Given the description of an element on the screen output the (x, y) to click on. 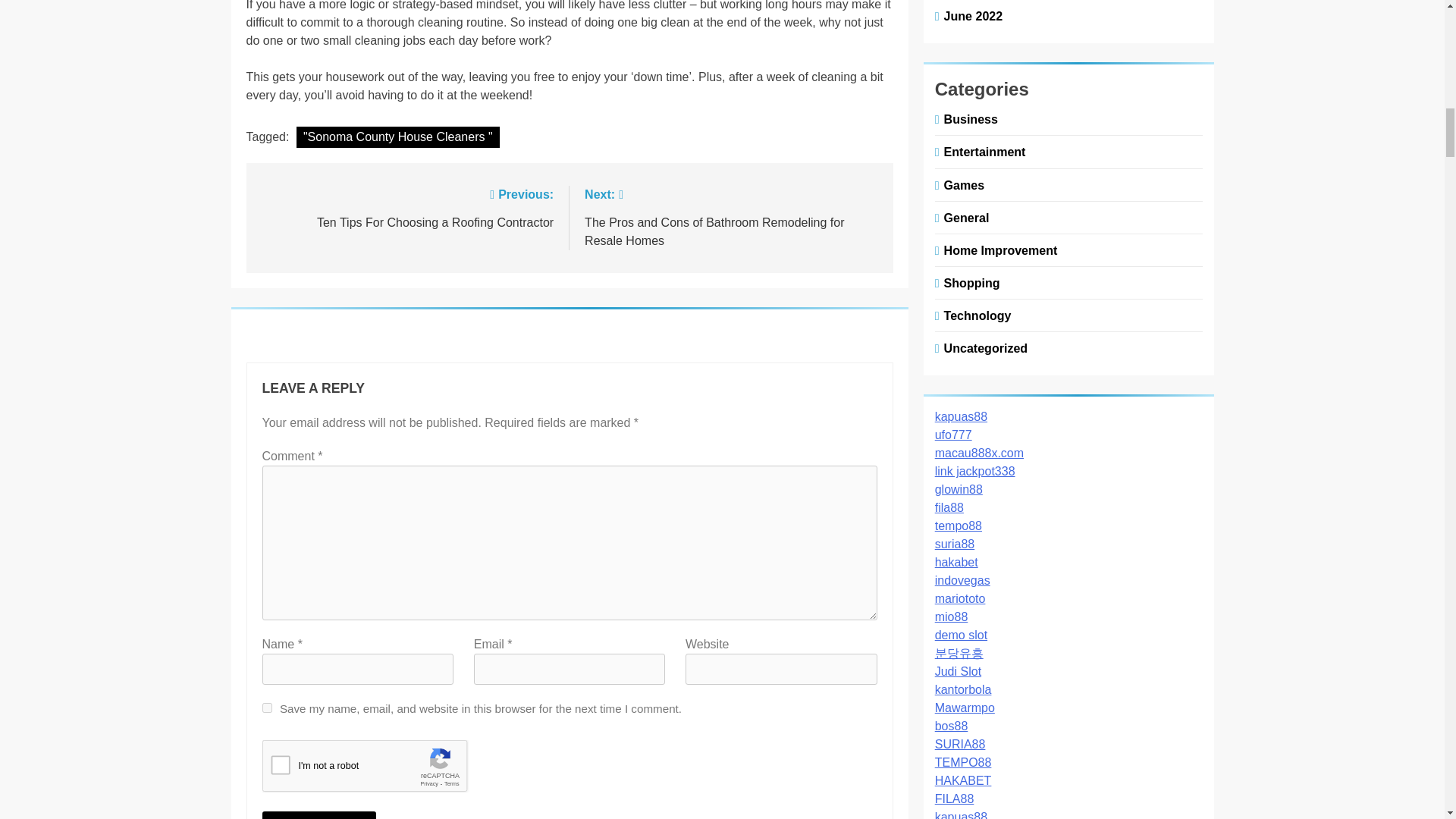
Post Comment (319, 815)
yes (406, 207)
"Sonoma County House Cleaners " (267, 707)
Post Comment (398, 137)
reCAPTCHA (319, 815)
